Given the description of an element on the screen output the (x, y) to click on. 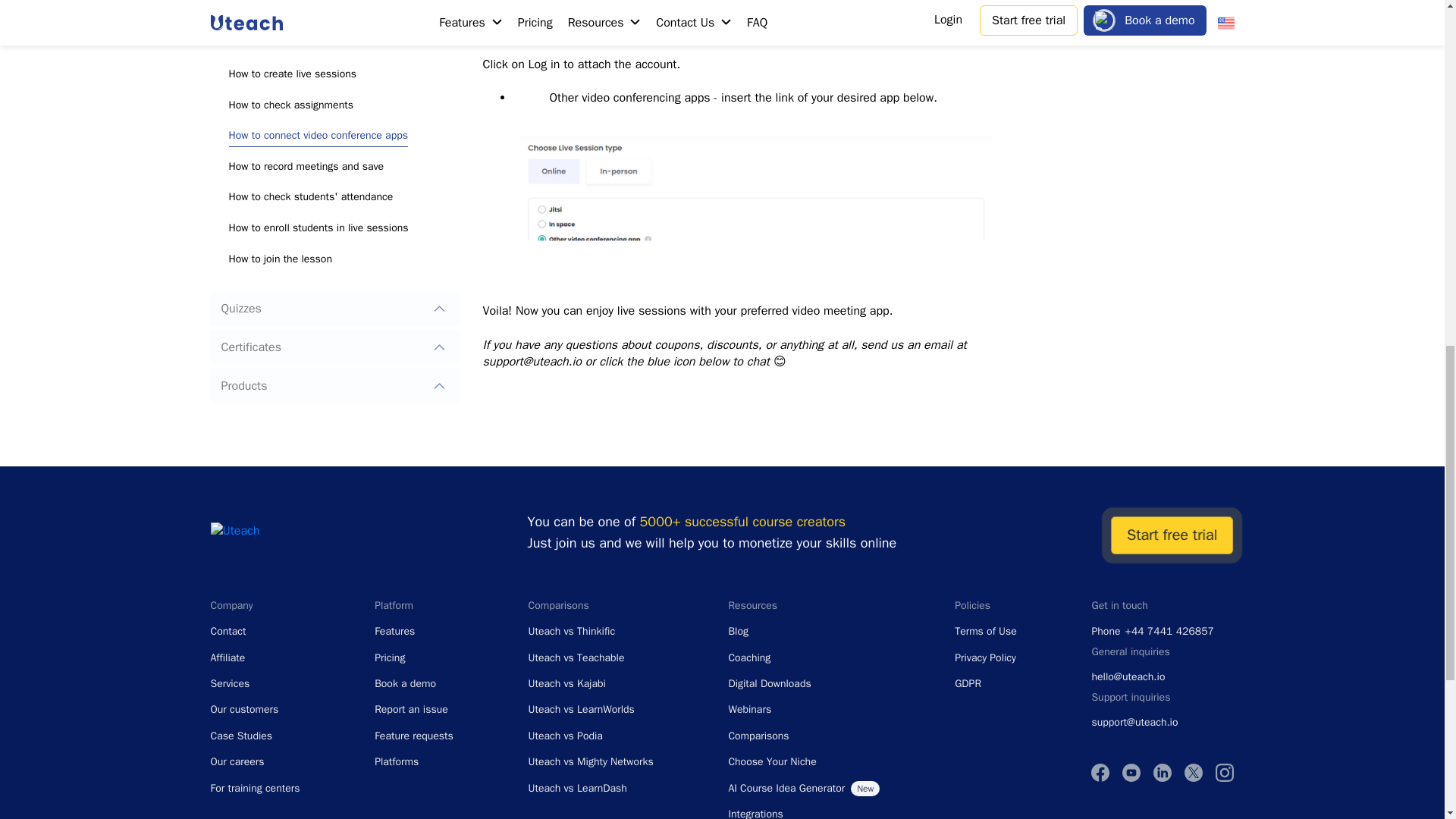
youtube (1131, 772)
facebook (1099, 772)
linkedin (1162, 772)
instagram (1224, 772)
X (1193, 772)
